Given the description of an element on the screen output the (x, y) to click on. 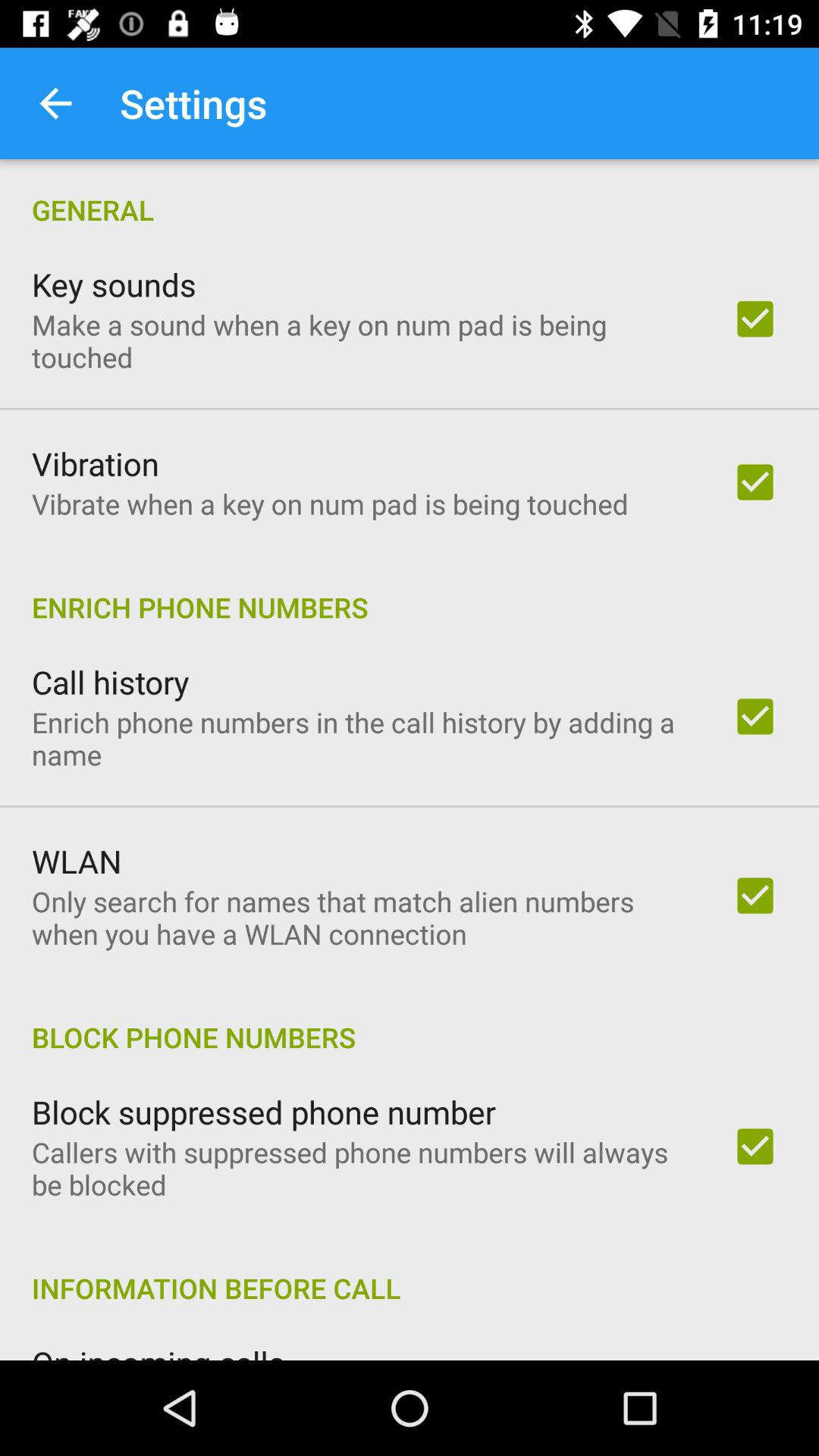
choose only search for icon (361, 917)
